Given the description of an element on the screen output the (x, y) to click on. 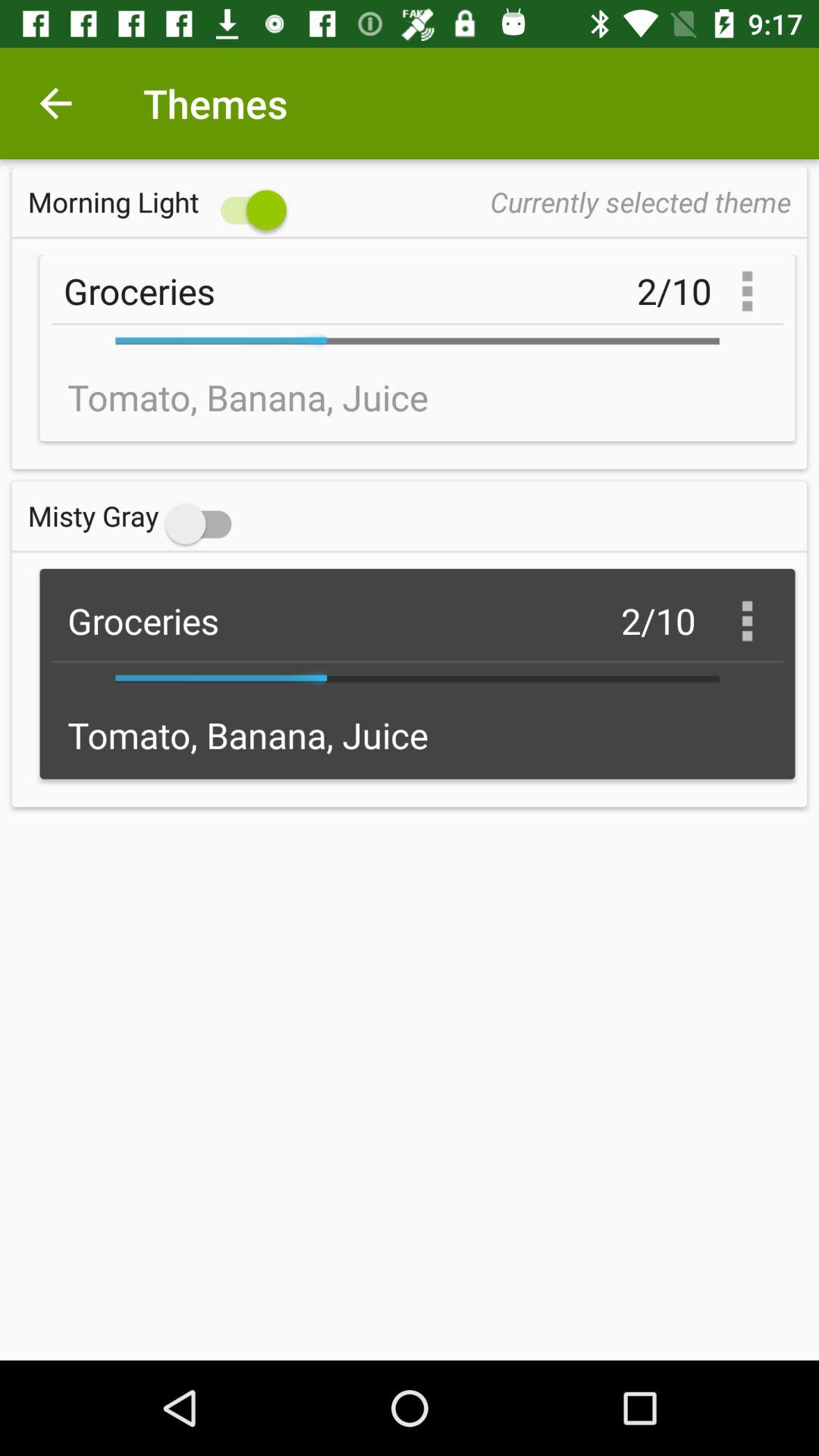
select the text below the misty gray (417, 673)
select the icon three dot (746, 620)
select the text under the morning light (417, 347)
click on the radio button beside morning light (160, 201)
